Given the description of an element on the screen output the (x, y) to click on. 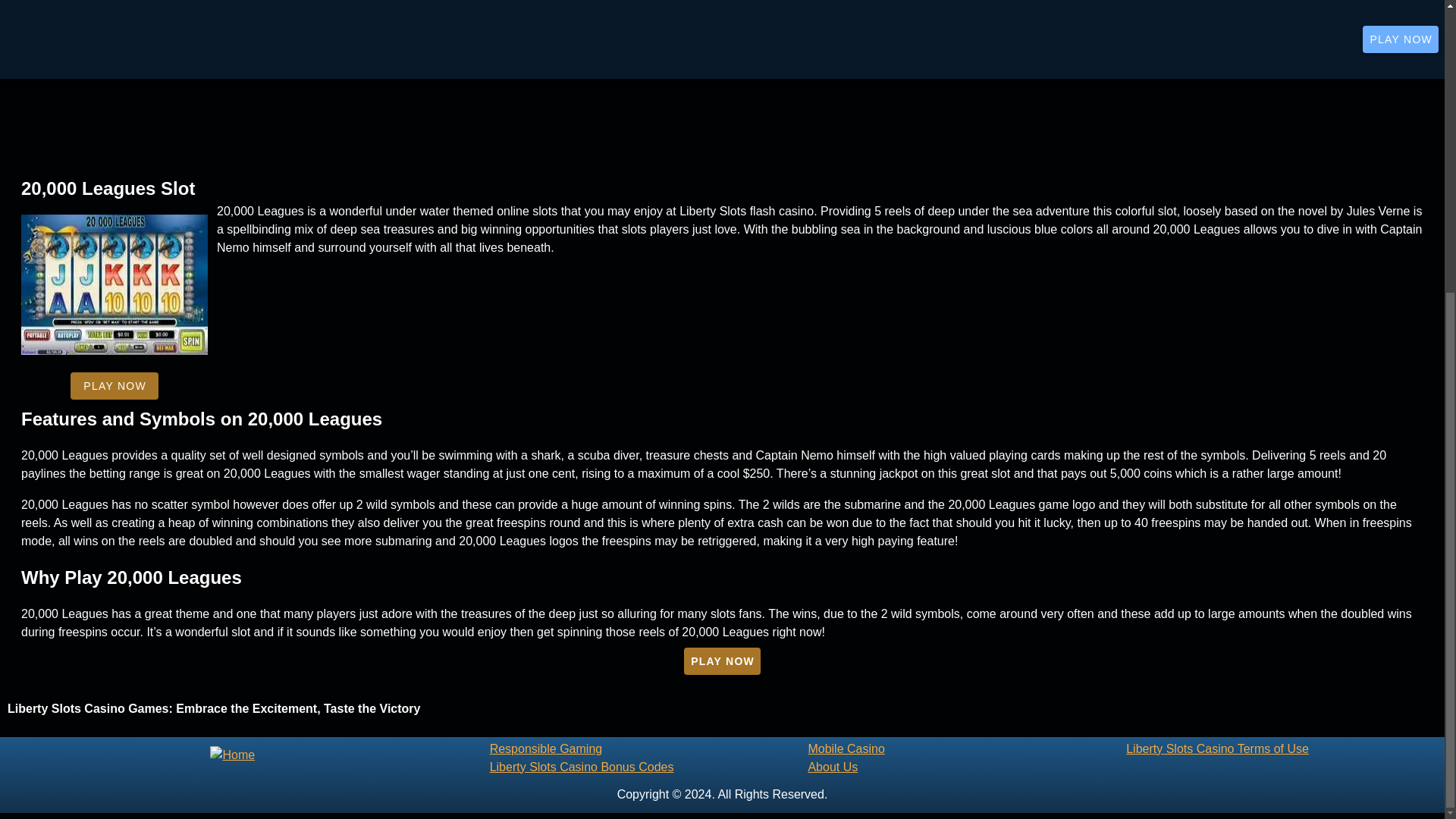
Mobile Casino (966, 748)
PLAY NOW (113, 385)
Liberty Slots Casino Bonus Codes (648, 766)
About Us (966, 766)
Responsible Gaming (648, 748)
PLAY NOW (722, 660)
